Given the description of an element on the screen output the (x, y) to click on. 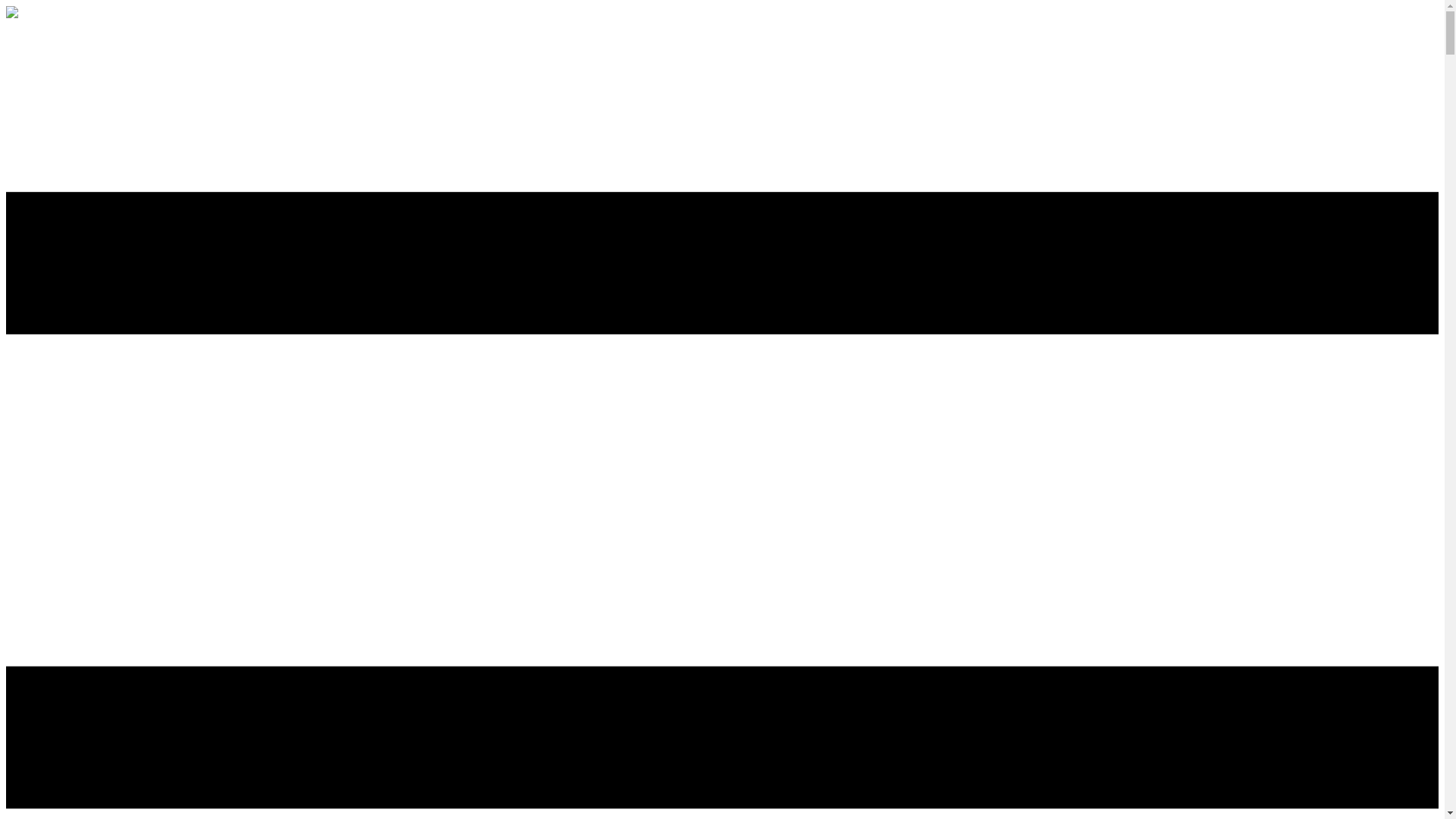
healthtime Element type: hover (12, 13)
